Given the description of an element on the screen output the (x, y) to click on. 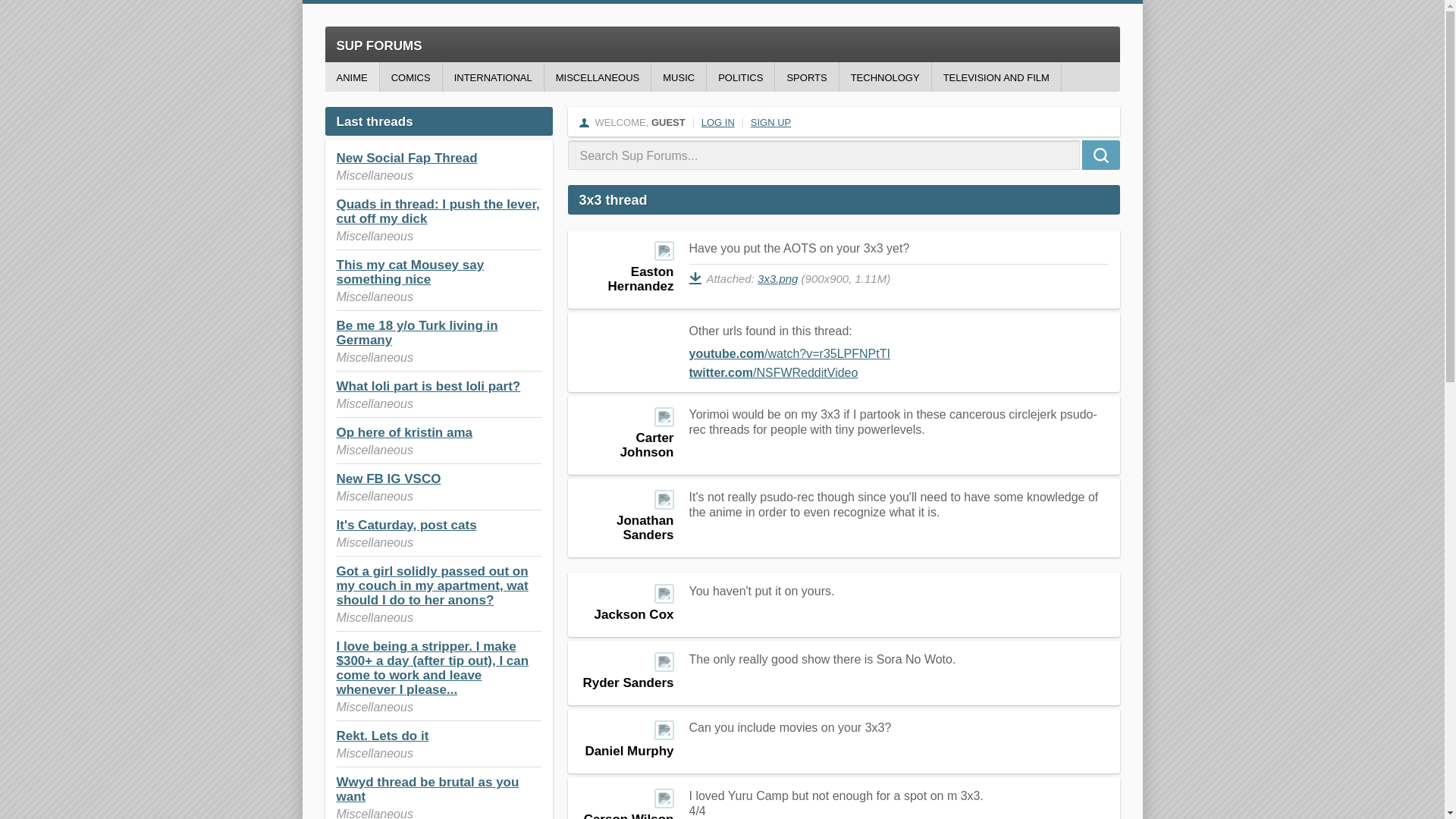
New FB IG VSCO (388, 478)
What loli part is best loli part? (428, 386)
SPORTS (806, 76)
3x3.png (777, 278)
This my cat Mousey say something nice (410, 271)
SUP FORUMS (721, 44)
New FB IG VSCO (388, 478)
It's Caturday, post cats (406, 524)
New Social Fap Thread (406, 157)
Quads in thread: I push the lever, cut off my dick (438, 211)
INTERNATIONAL (492, 76)
This my cat Mousey say something nice (410, 271)
Quads in thread: I push the lever, cut off my dick (438, 211)
POLITICS (740, 76)
